Given the description of an element on the screen output the (x, y) to click on. 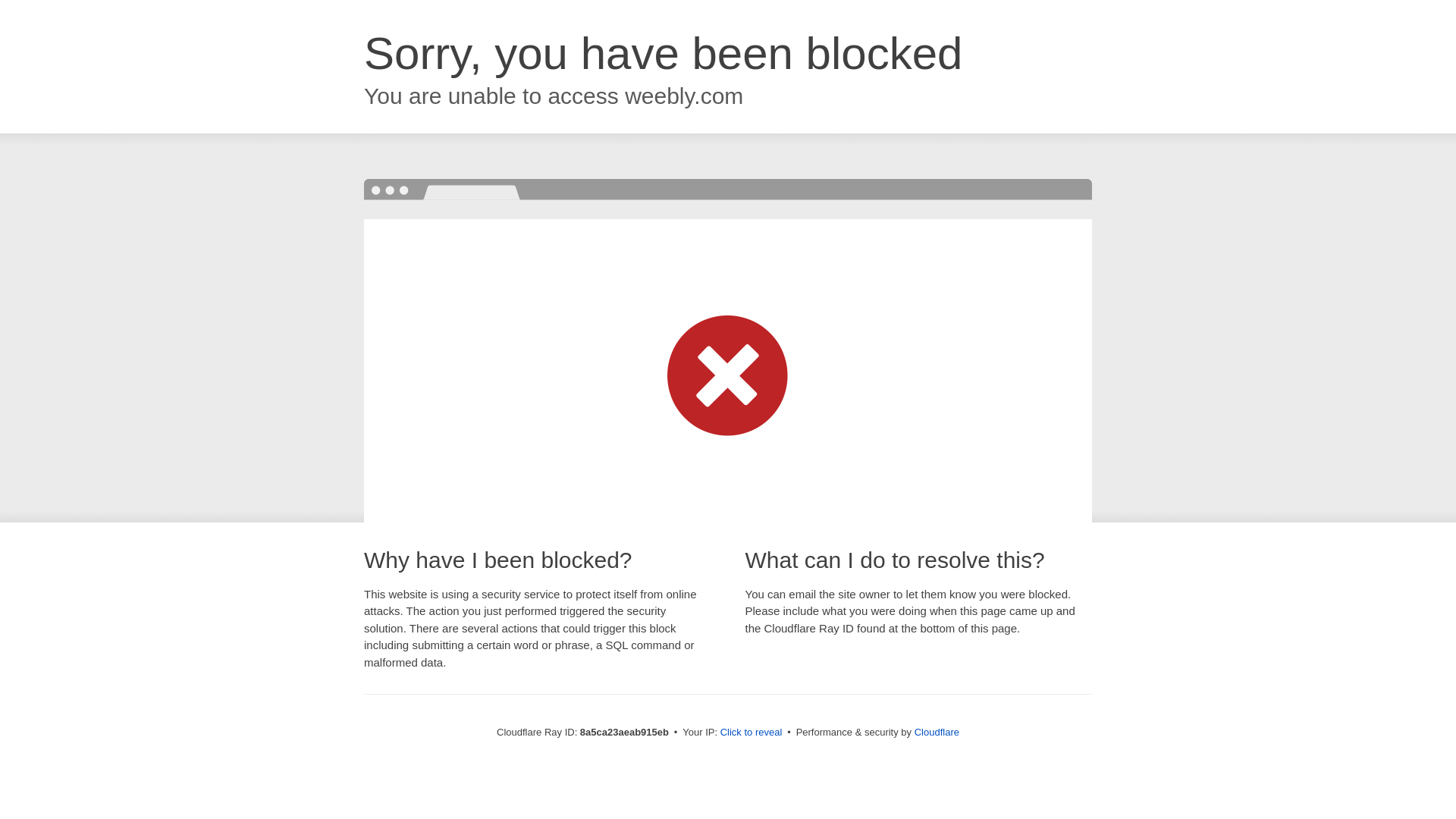
Click to reveal (751, 732)
Cloudflare (936, 731)
